Given the description of an element on the screen output the (x, y) to click on. 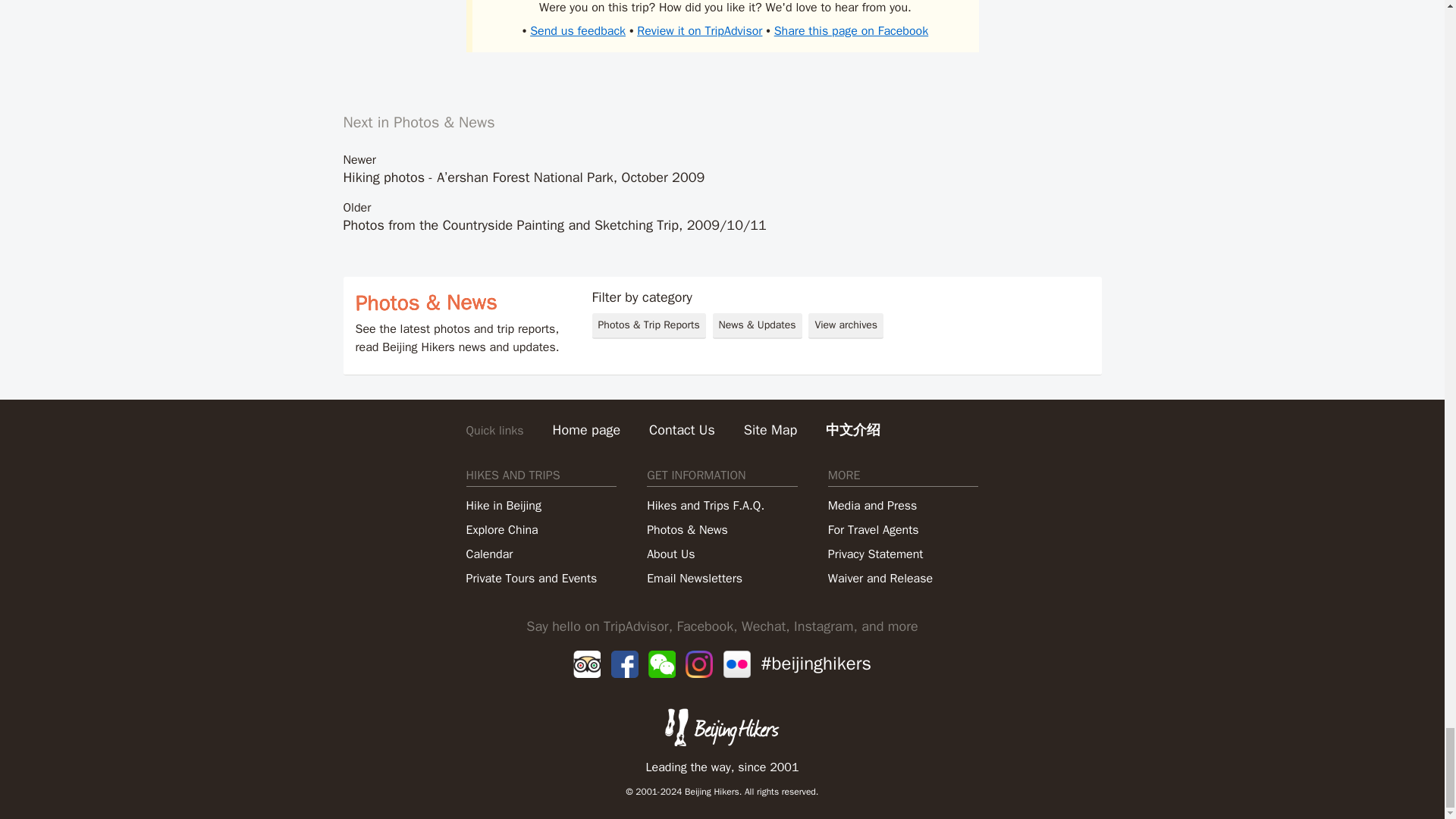
Home page (587, 429)
Share this page on Facebook (851, 30)
Send us feedback (577, 30)
Hike in Beijing (502, 505)
Private Tours and Events (530, 578)
Explore China (501, 529)
Calendar (488, 554)
Review it on TripAdvisor (699, 30)
Contact Us (681, 429)
View archives (845, 325)
